Given the description of an element on the screen output the (x, y) to click on. 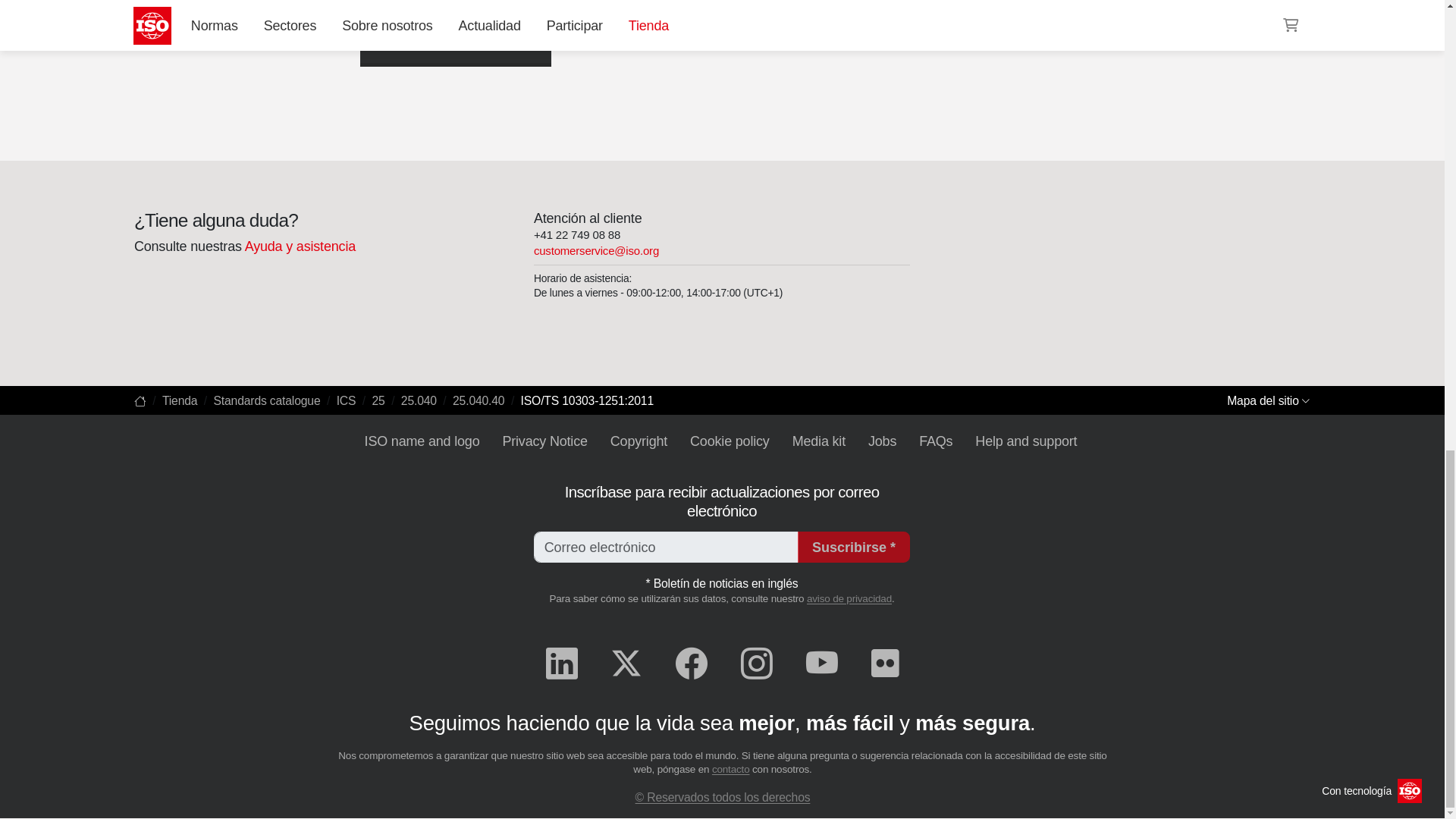
Etapa: 95.99 (410, 41)
